Given the description of an element on the screen output the (x, y) to click on. 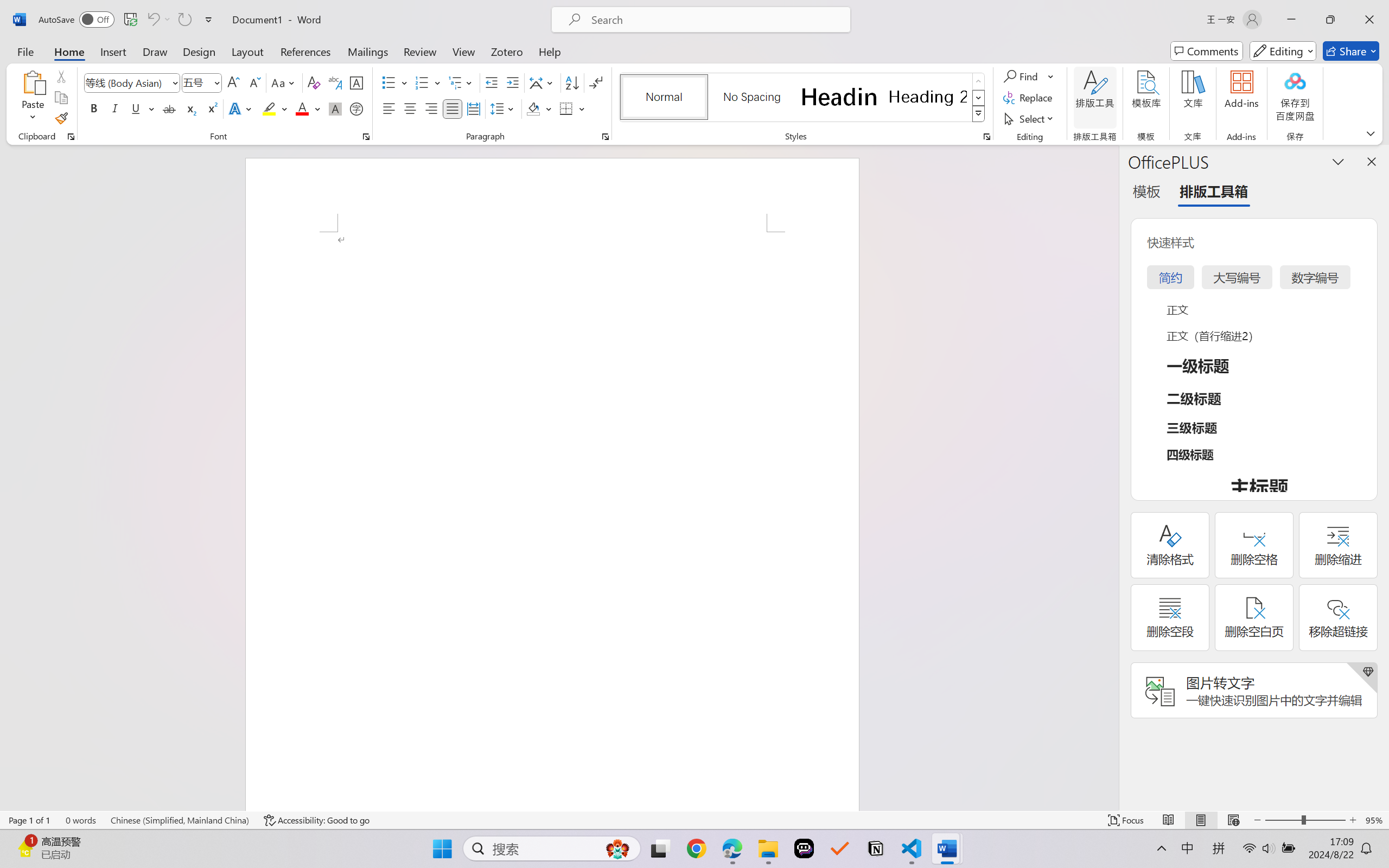
AutomationID: QuickStylesGallery (802, 97)
Class: MsoCommandBar (694, 819)
Font Color Red (302, 108)
